Given the description of an element on the screen output the (x, y) to click on. 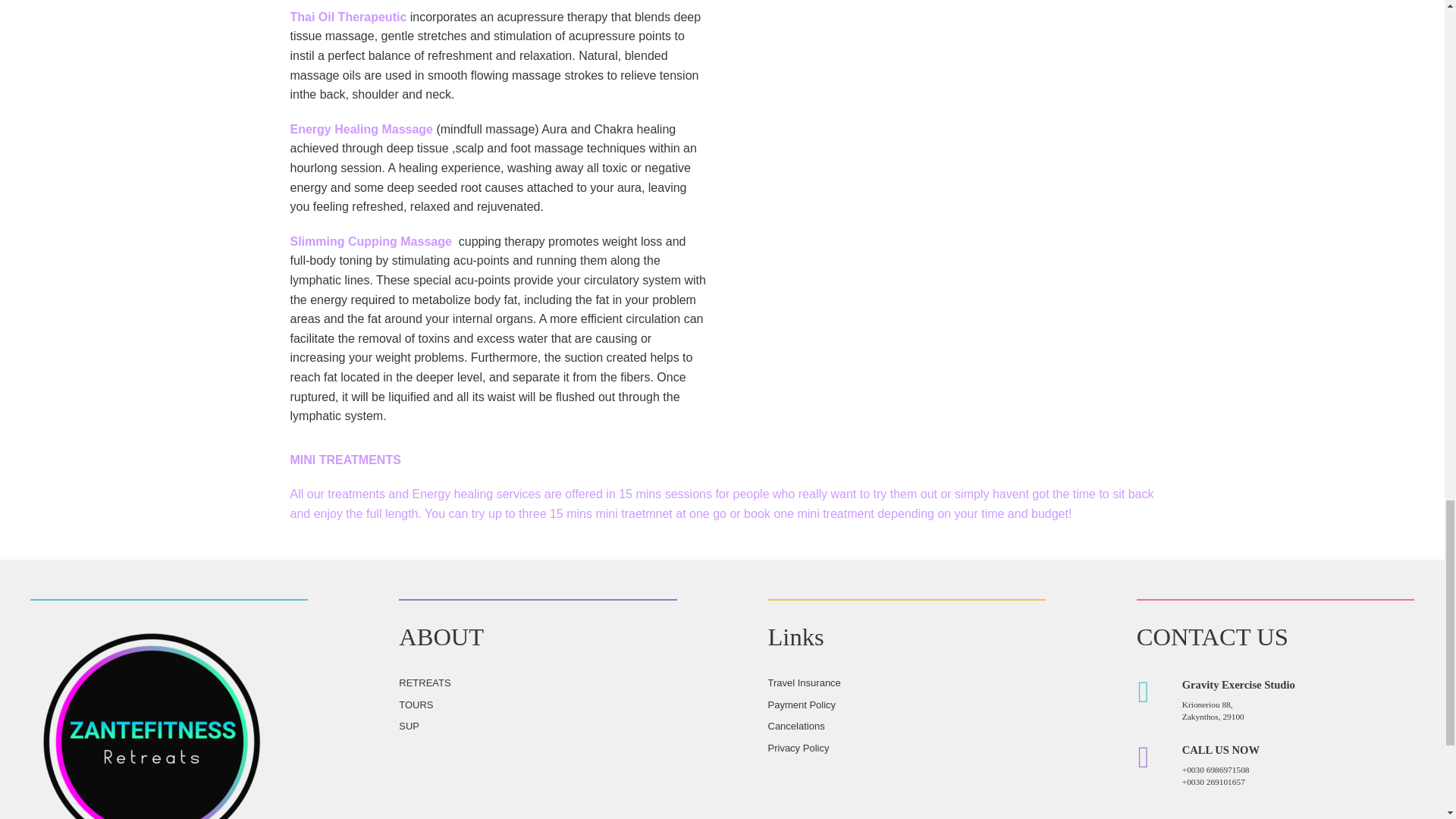
TOURS (415, 704)
Payment Policy (801, 704)
RETREATS (423, 682)
SUP (408, 726)
Cancelations (795, 726)
Travel Insurance (803, 682)
Privacy Policy (797, 747)
